Given the description of an element on the screen output the (x, y) to click on. 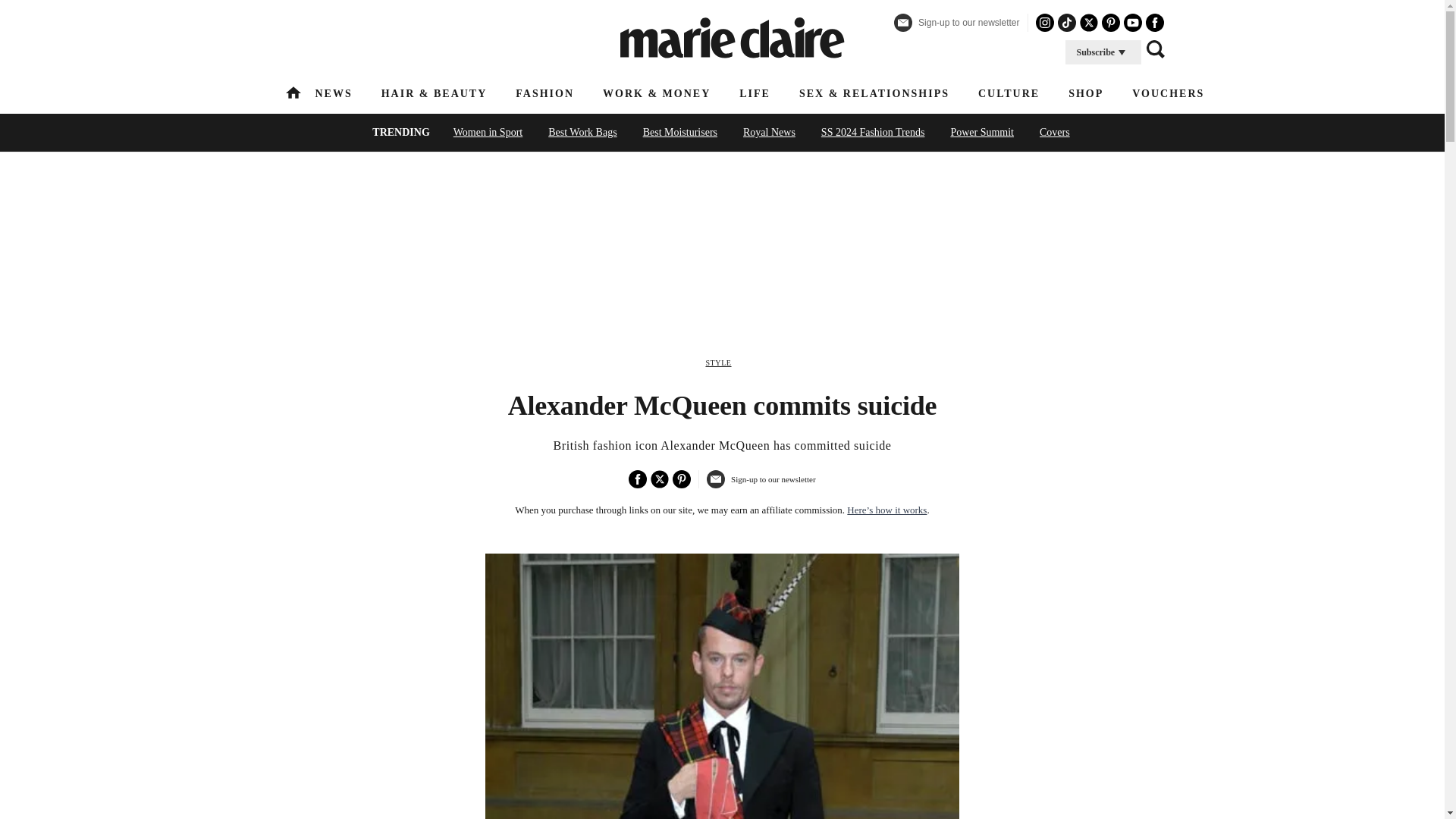
NEWS (333, 93)
FASHION (544, 93)
LIFE (754, 93)
